Given the description of an element on the screen output the (x, y) to click on. 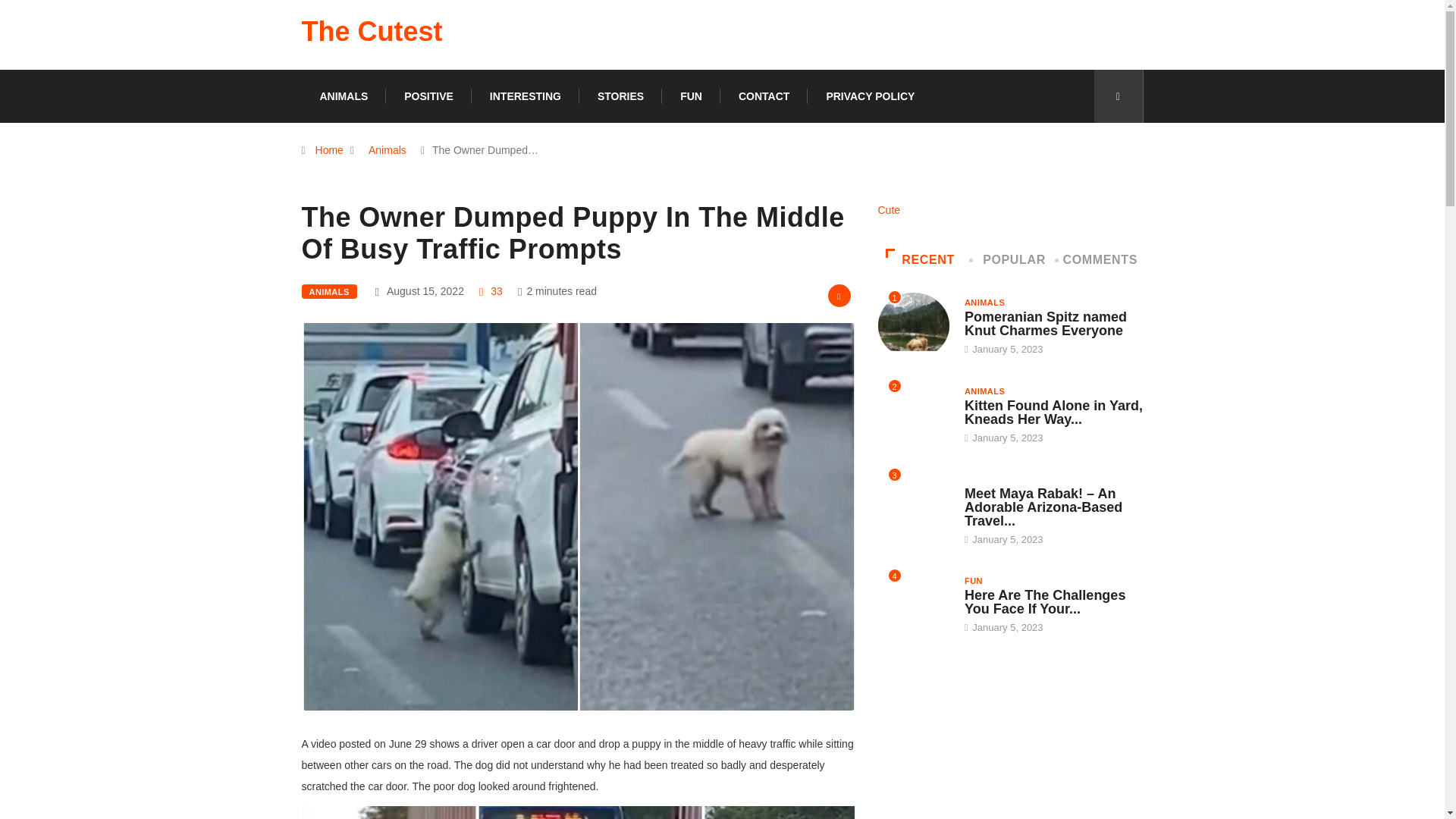
2 (913, 414)
The Cutest (371, 31)
ANIMALS (983, 302)
PRIVACY POLICY (869, 95)
POSITIVE (428, 95)
1 (913, 325)
Home (329, 150)
3 (913, 503)
COMMENTS (1099, 259)
popup modal for search (1117, 95)
